Given the description of an element on the screen output the (x, y) to click on. 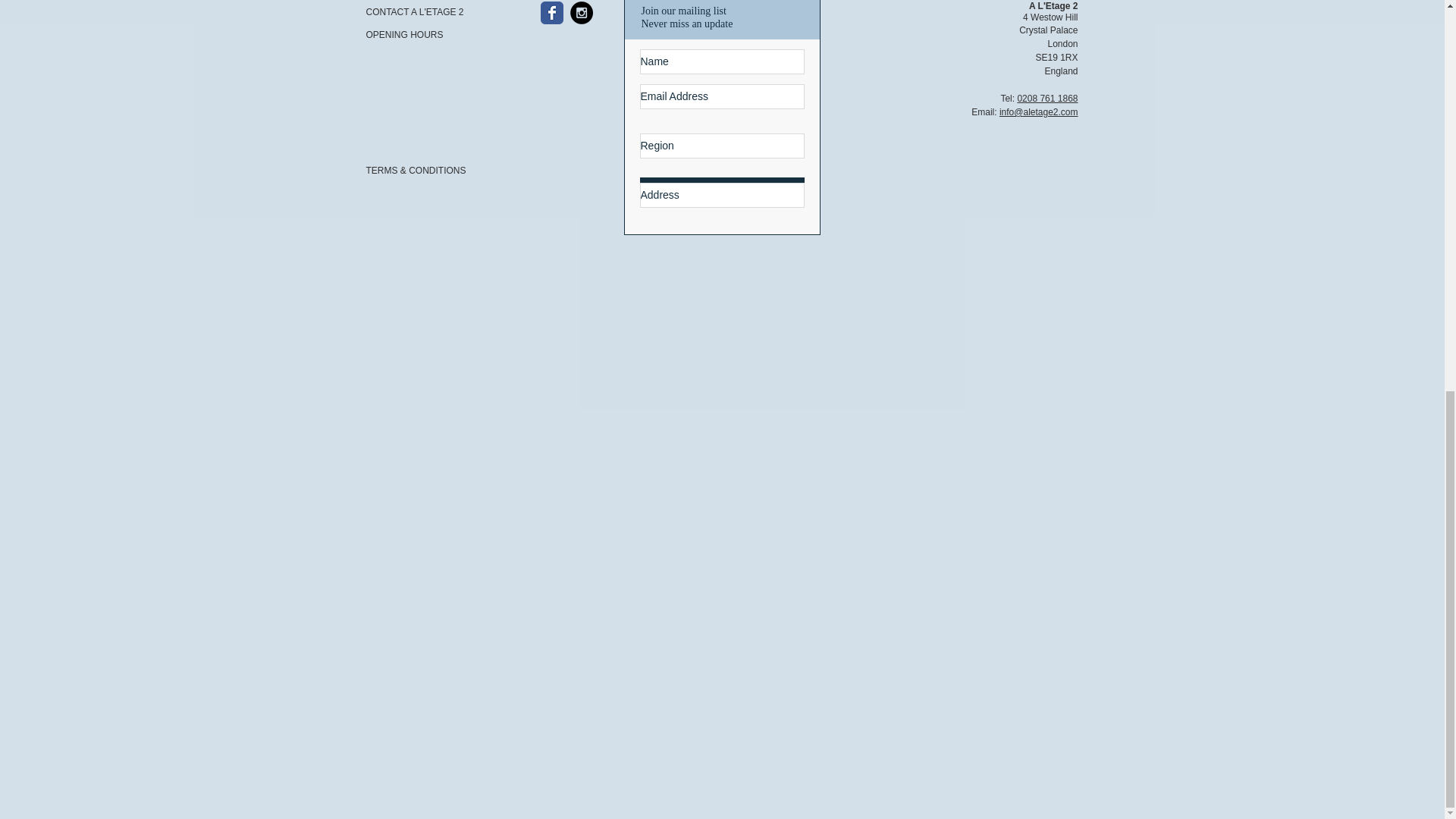
OPENING HOURS (418, 34)
CONTACT A L'ETAGE 2 (418, 11)
0208 761 1868 (1046, 98)
Subscribe Now (722, 192)
